Given the description of an element on the screen output the (x, y) to click on. 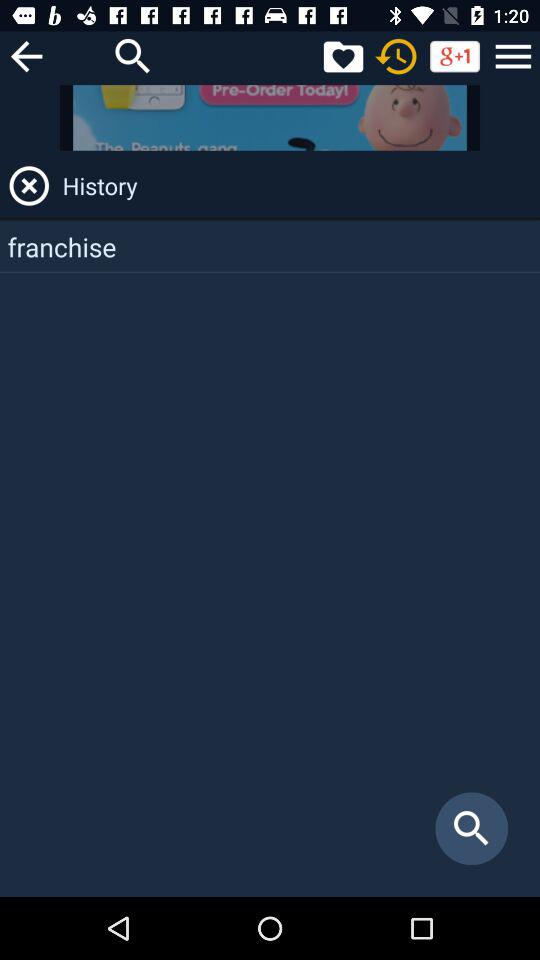
search field (133, 56)
